Given the description of an element on the screen output the (x, y) to click on. 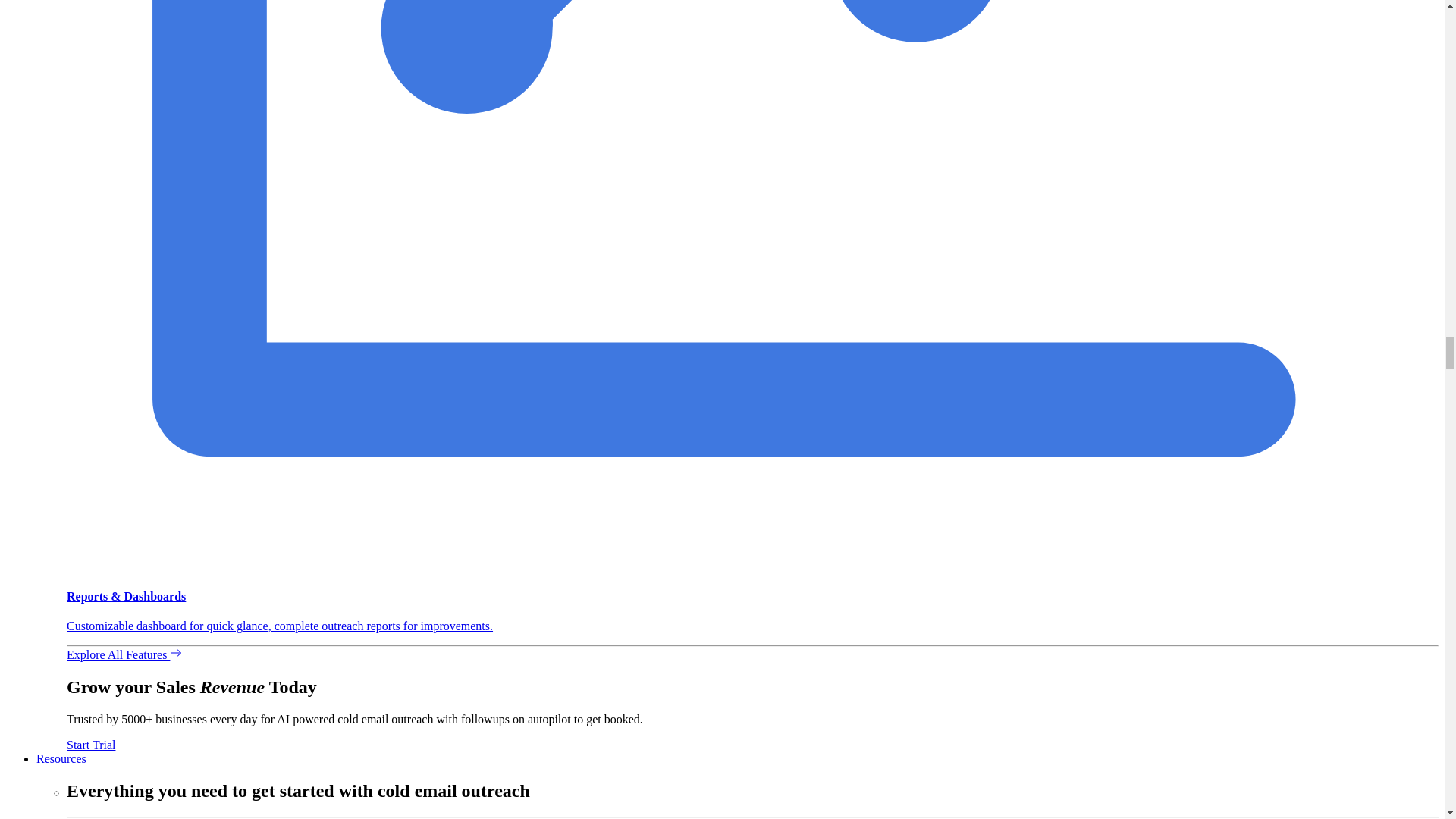
Explore All Features (124, 654)
Start Trial (90, 744)
Resources (60, 758)
